Given the description of an element on the screen output the (x, y) to click on. 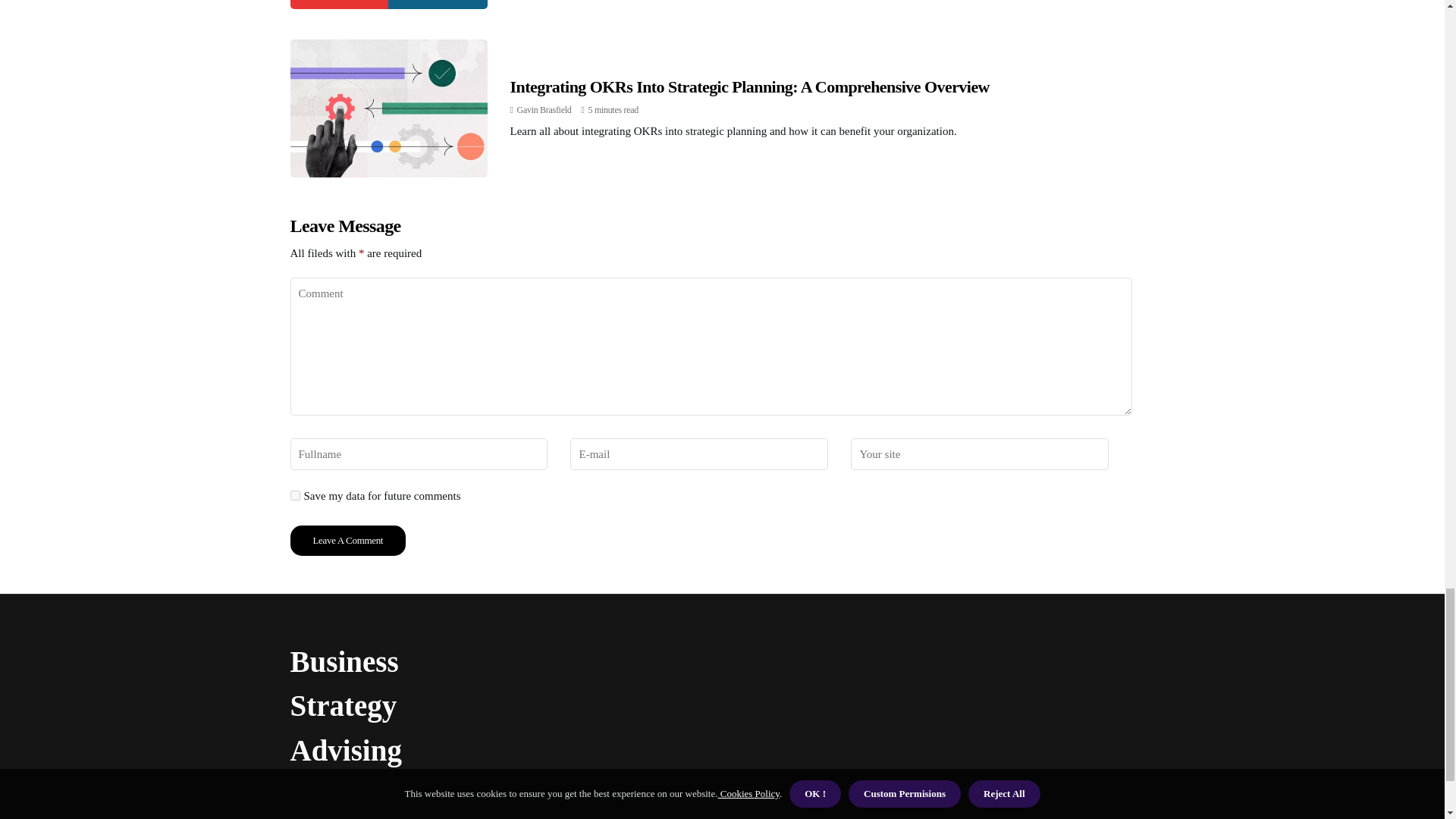
yes (294, 495)
Posts by Gavin Brasfield (544, 109)
Leave a Comment (347, 540)
